Given the description of an element on the screen output the (x, y) to click on. 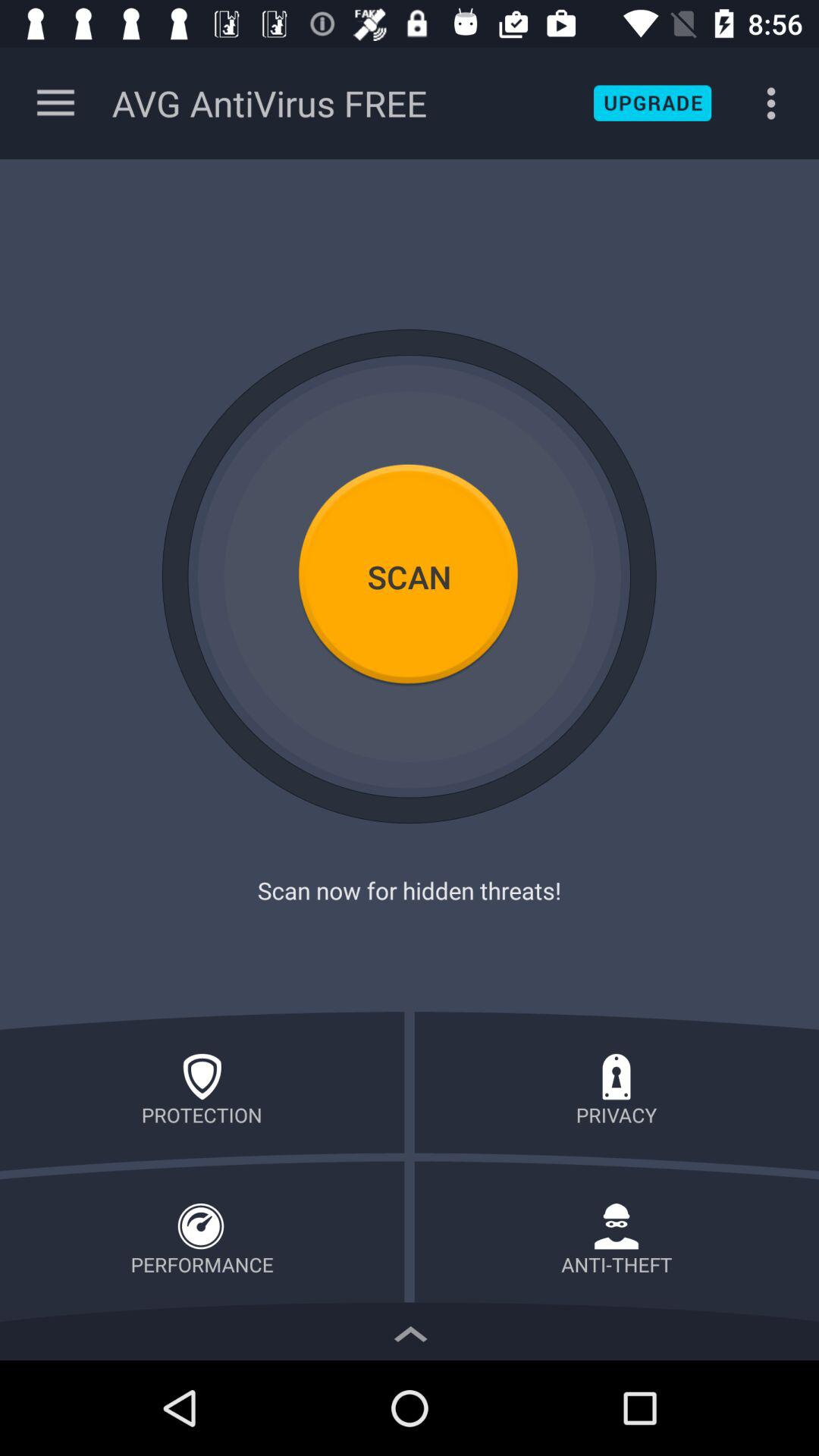
go to menu (55, 103)
